Given the description of an element on the screen output the (x, y) to click on. 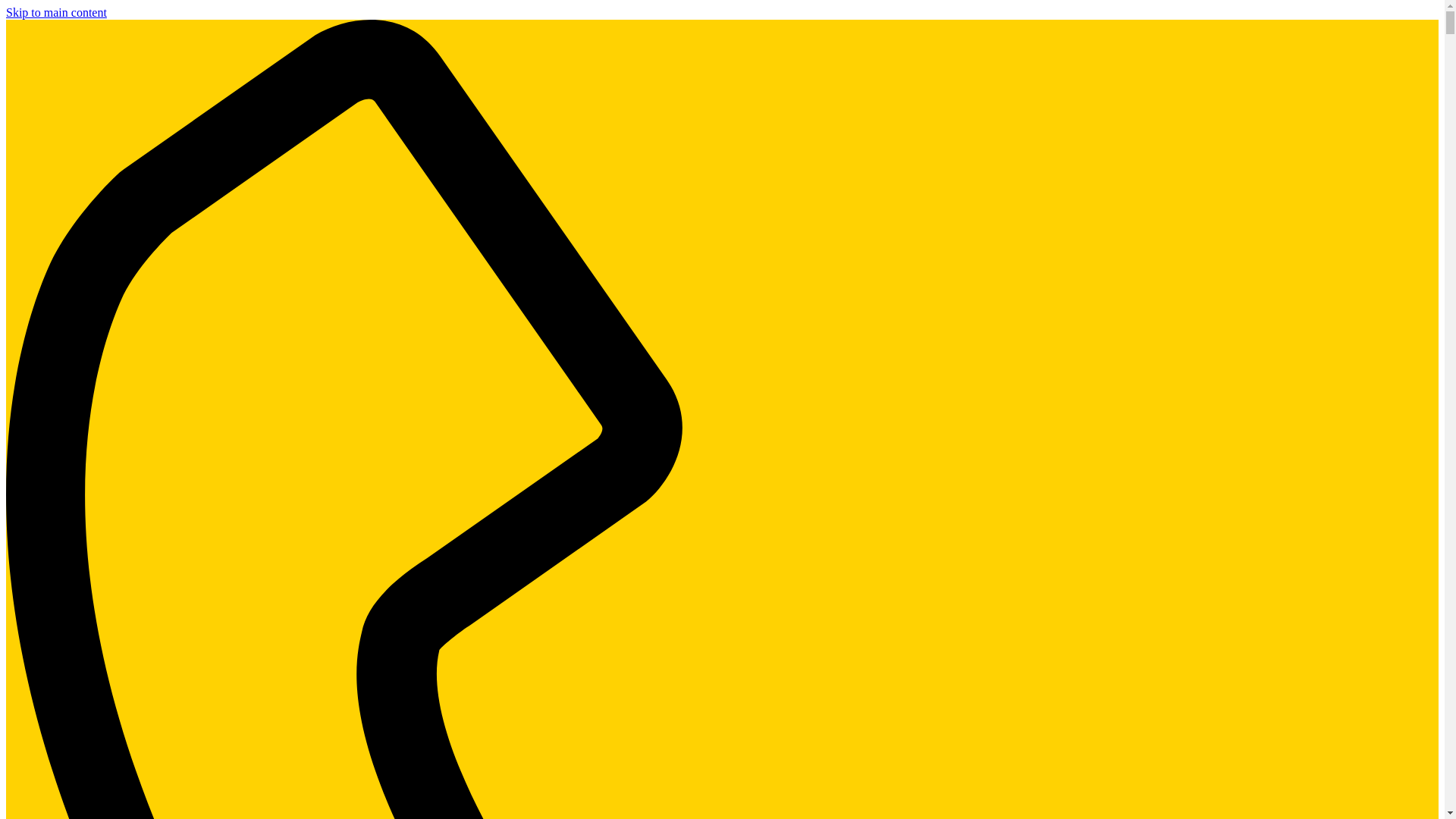
Skip to main content (55, 11)
